Given the description of an element on the screen output the (x, y) to click on. 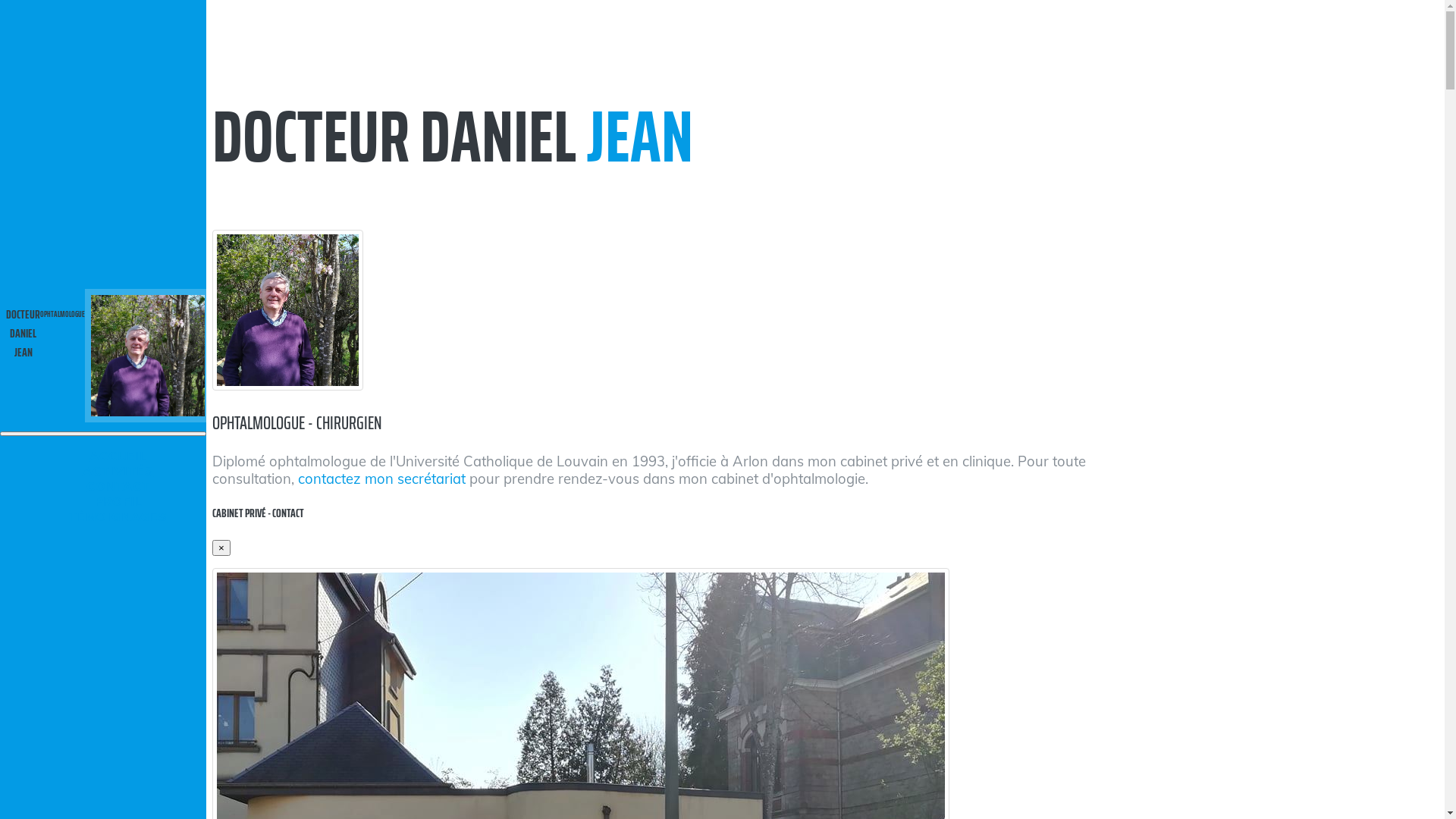
ACCUEIL Element type: text (118, 455)
DOCTEUR DANIEL JEAN
OPHTALMOLOGUE Element type: text (108, 356)
PROFIL Element type: text (118, 500)
CONTACT Element type: text (118, 485)
